Given the description of an element on the screen output the (x, y) to click on. 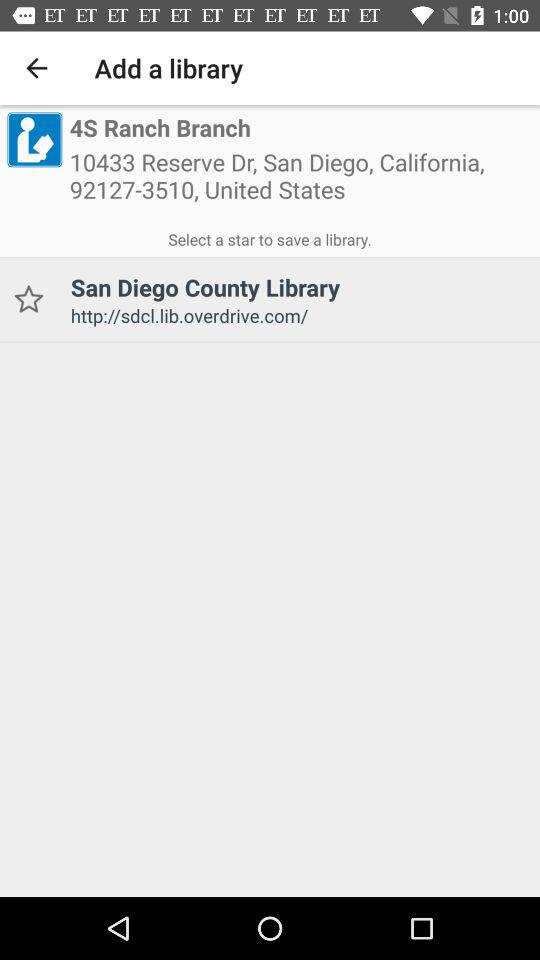
select 10433 reserve dr (301, 182)
